Given the description of an element on the screen output the (x, y) to click on. 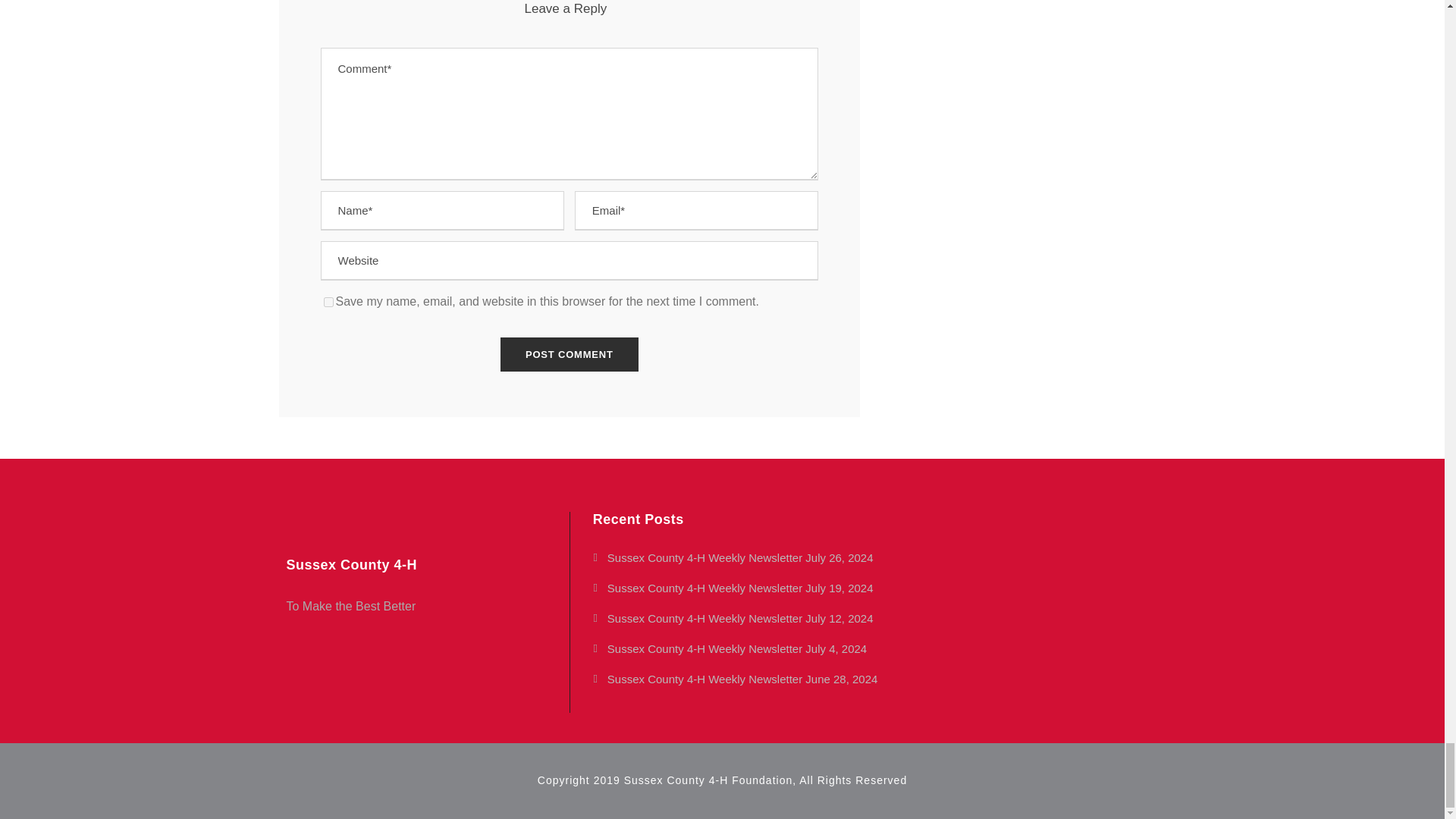
Post Comment (569, 354)
yes (328, 302)
